Given the description of an element on the screen output the (x, y) to click on. 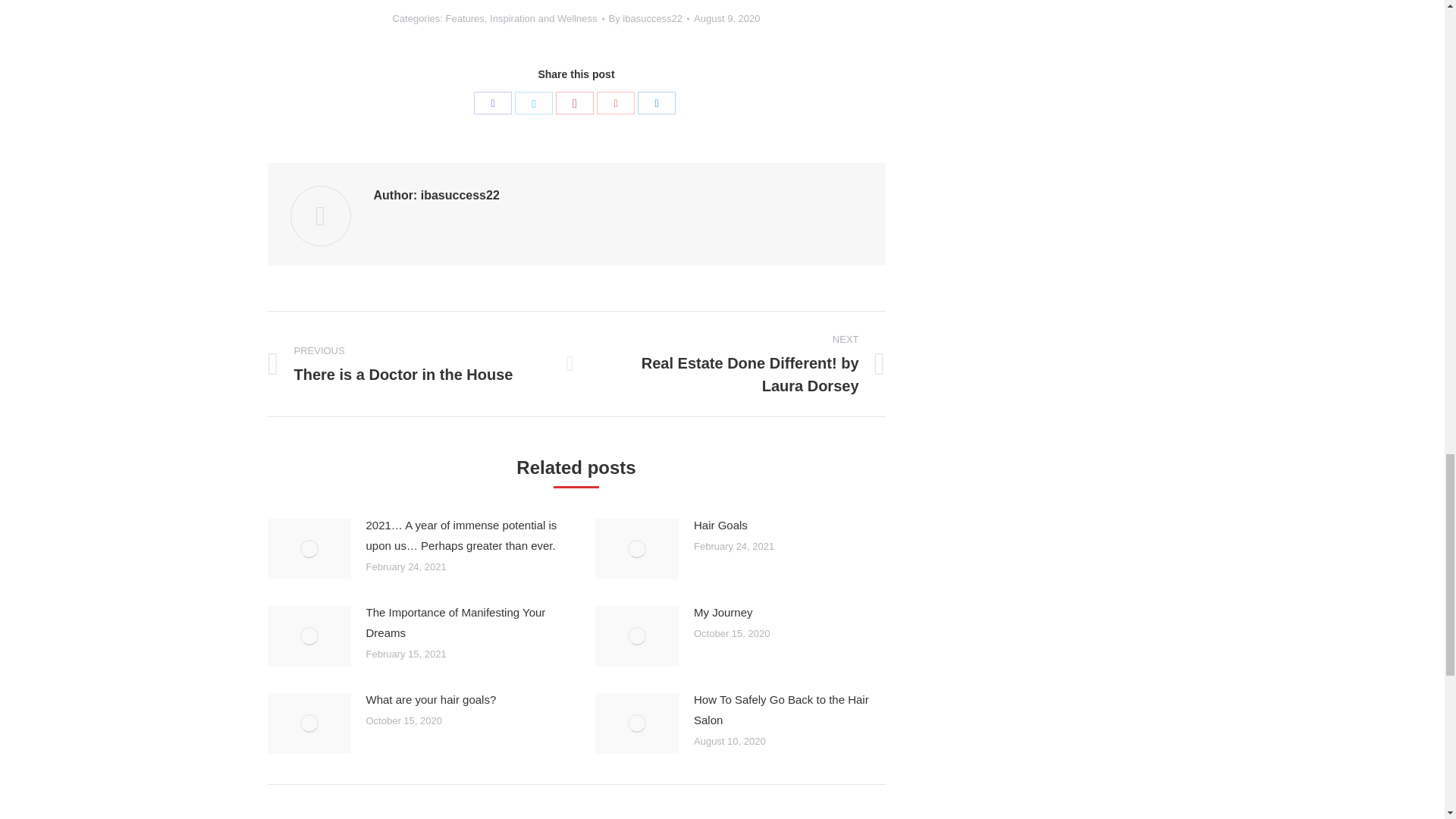
Facebook (493, 102)
View all posts by ibasuccess22 (648, 18)
11:59 pm (727, 18)
Twitter (534, 102)
Pinterest (575, 102)
